Given the description of an element on the screen output the (x, y) to click on. 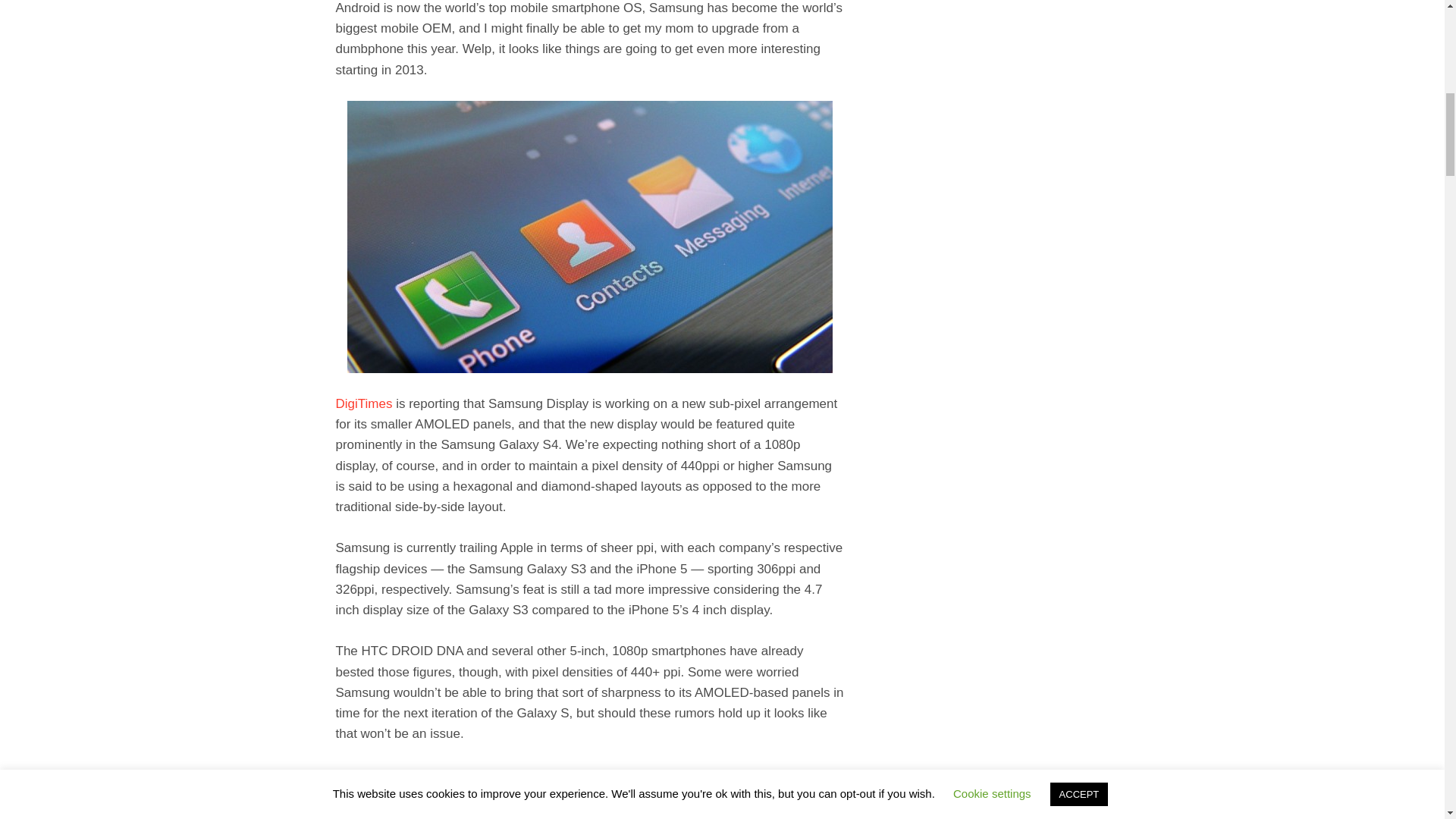
Samsung Galaxy S3 display closeup (589, 236)
DigiTimes (362, 403)
